Given the description of an element on the screen output the (x, y) to click on. 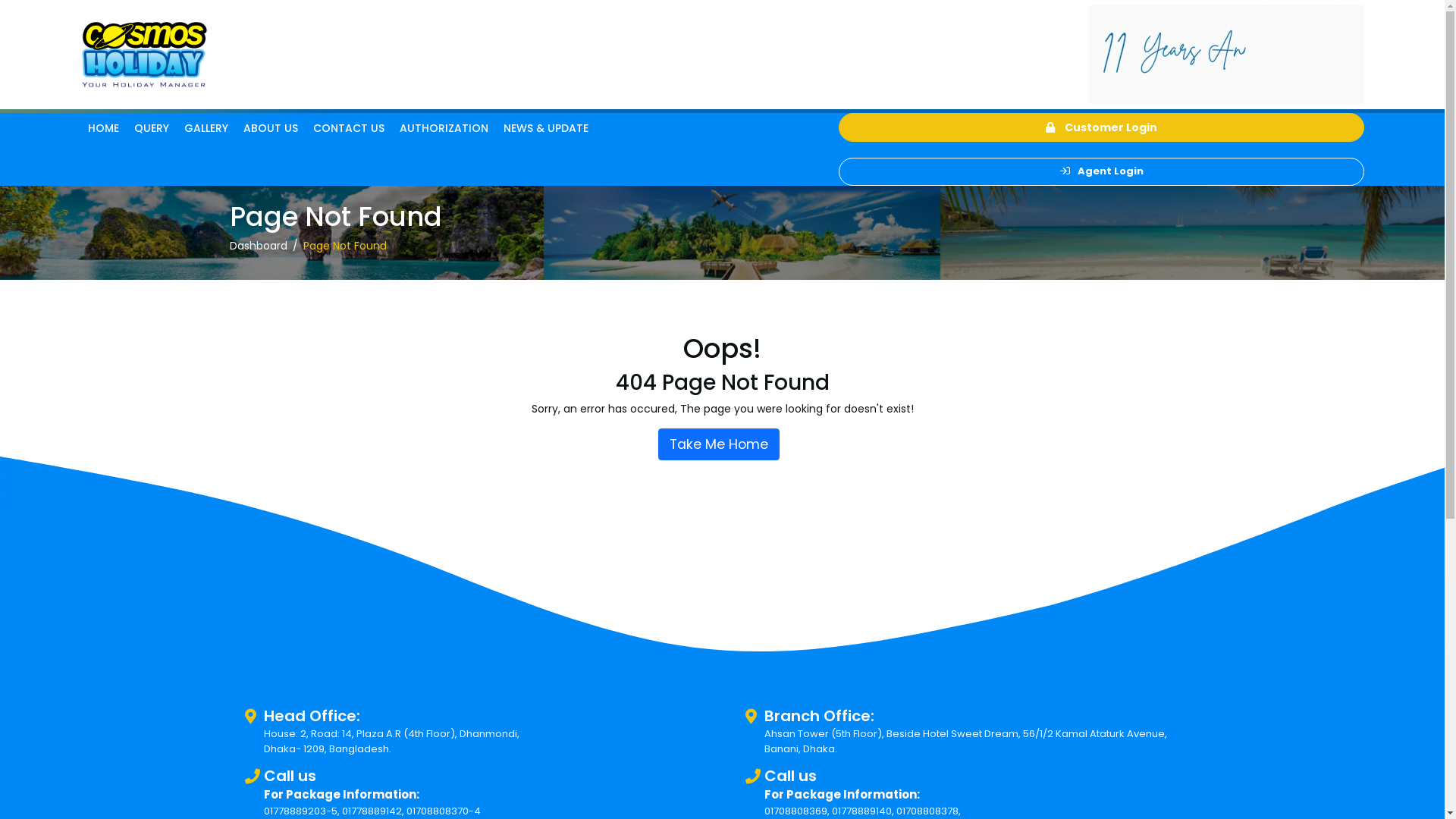
GALLERY Element type: text (205, 128)
Dashboard Element type: text (258, 245)
QUERY Element type: text (151, 128)
HOME Element type: text (103, 128)
NEWS & UPDATE Element type: text (545, 128)
ABOUT US Element type: text (270, 128)
AUTHORIZATION Element type: text (443, 128)
Agent Login Element type: text (1101, 171)
CONTACT US Element type: text (348, 128)
Customer Login Element type: text (1101, 126)
Take Me Home Element type: text (718, 444)
